Given the description of an element on the screen output the (x, y) to click on. 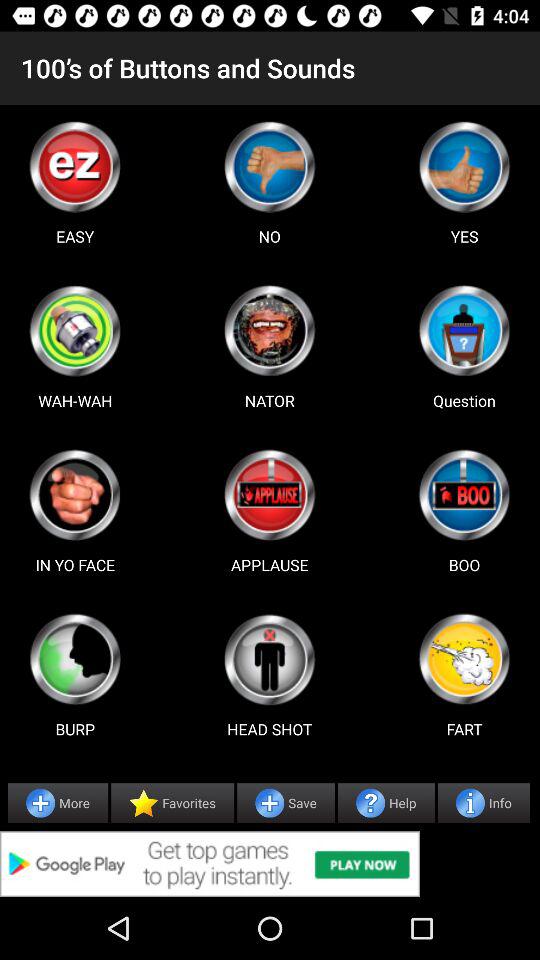
open advertisement (270, 864)
